Given the description of an element on the screen output the (x, y) to click on. 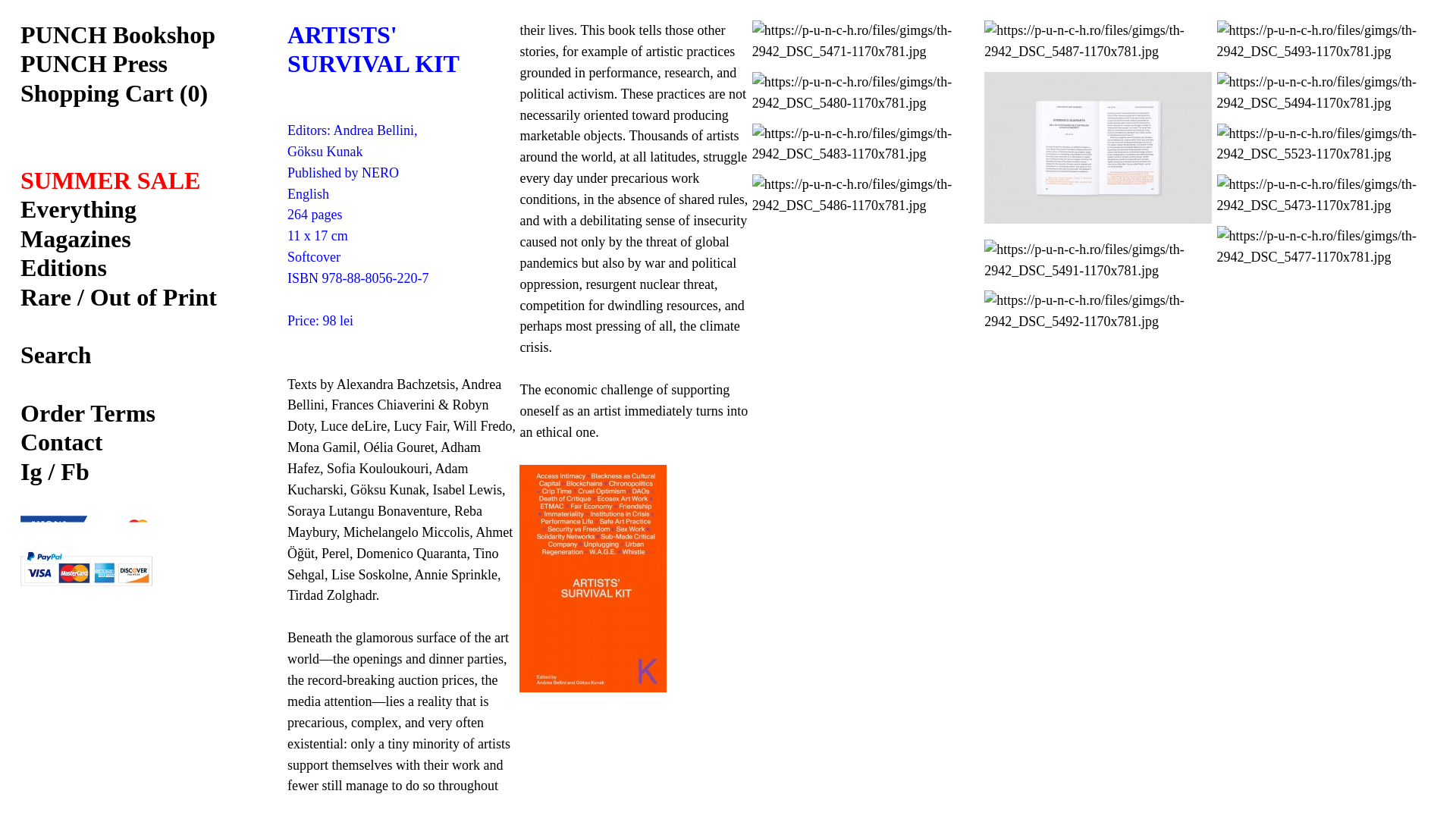
Search (55, 354)
Magazines (75, 238)
SUMMER SALE (110, 180)
Fb (74, 471)
PUNCH Press (93, 62)
Ig (31, 471)
PUNCH Bookshop (117, 34)
Order Terms (87, 412)
Everything (78, 208)
Editions (63, 267)
Contact (60, 441)
